Given the description of an element on the screen output the (x, y) to click on. 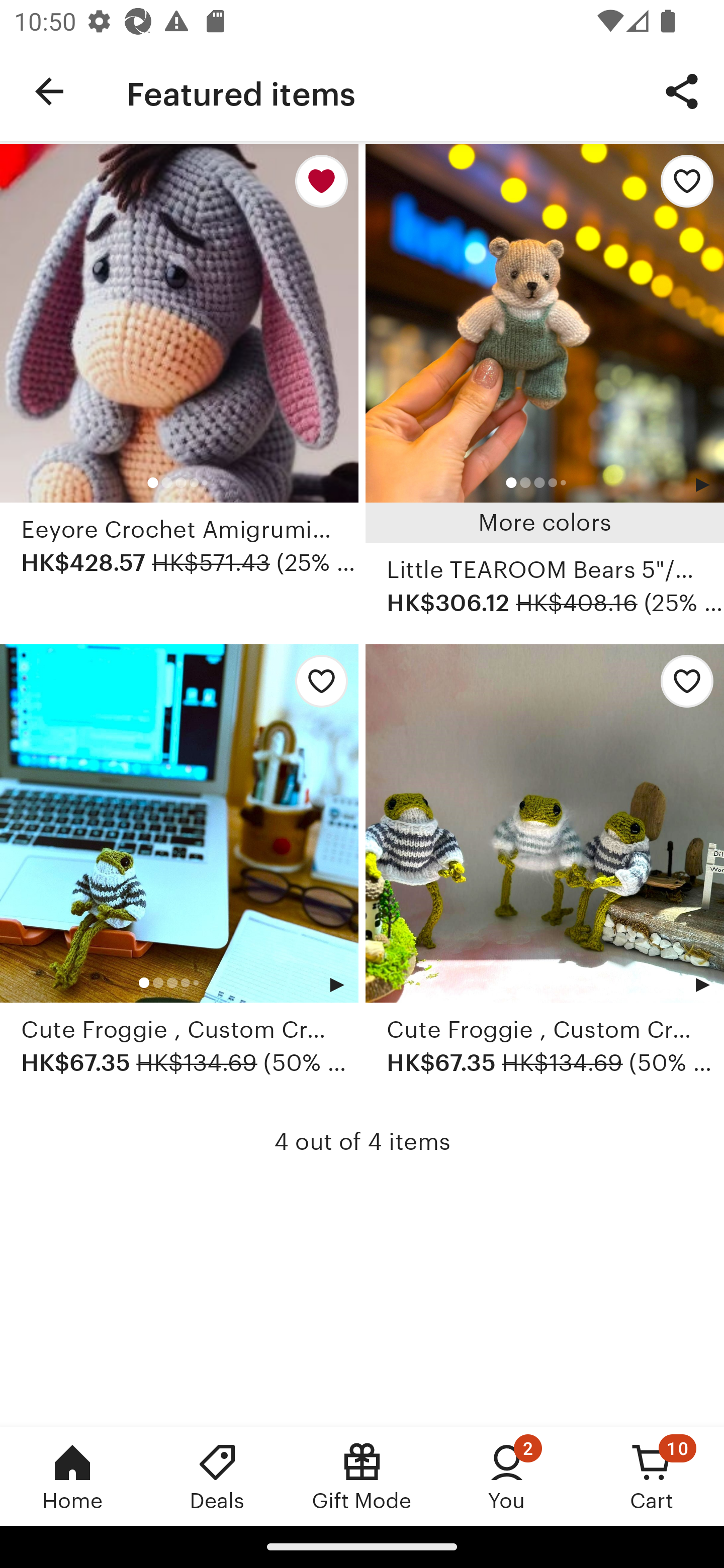
Navigate up (49, 91)
Share Button (681, 90)
Deals (216, 1475)
Gift Mode (361, 1475)
You, 2 new notifications You (506, 1475)
Cart, 10 new notifications Cart (651, 1475)
